Given the description of an element on the screen output the (x, y) to click on. 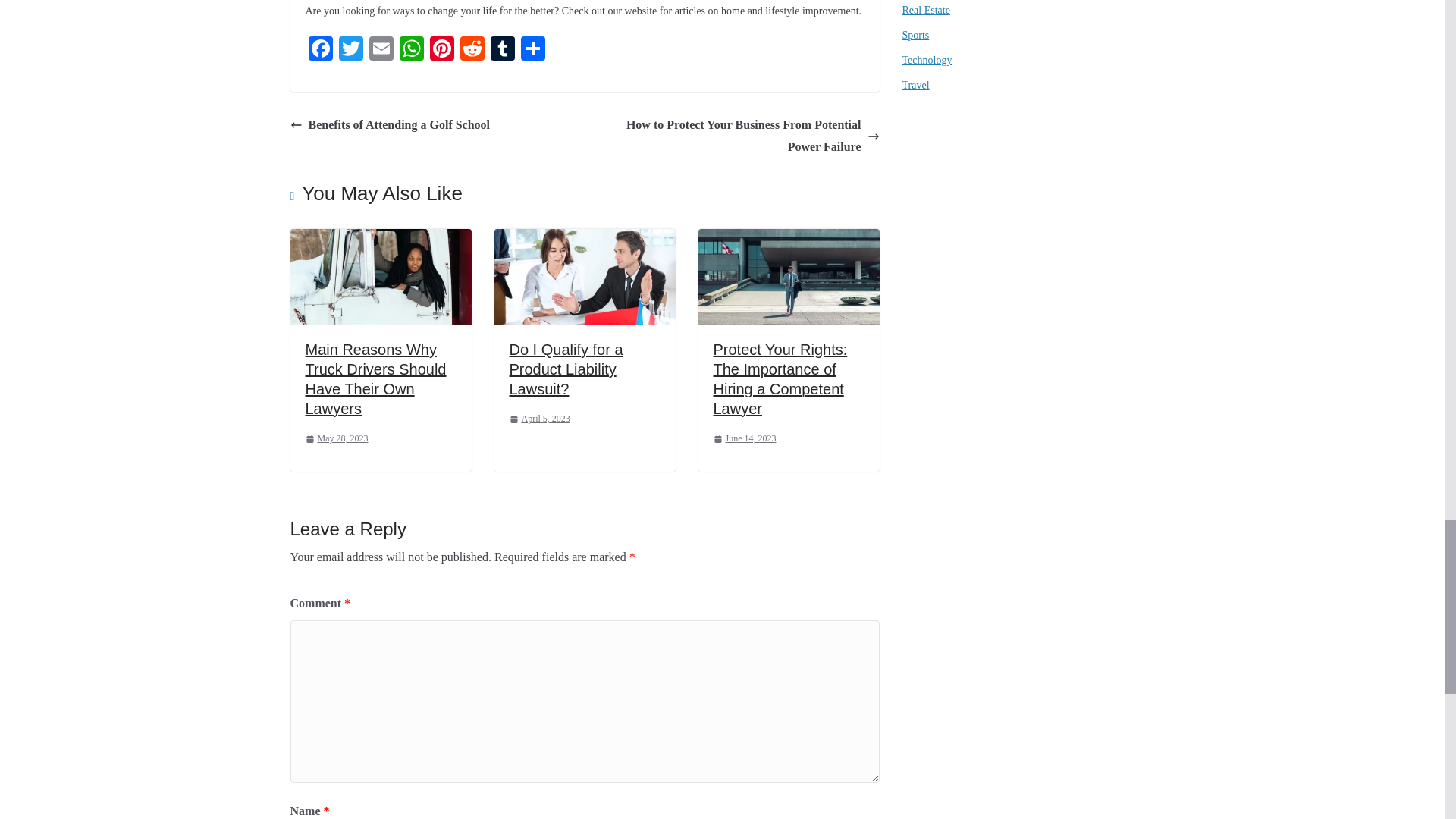
Reddit (471, 50)
WhatsApp (411, 50)
April 5, 2023 (539, 419)
Benefits of Attending a Golf School (389, 125)
Main Reasons Why Truck Drivers Should Have Their Own Lawyers (374, 378)
Do I Qualify for a Product Liability Lawsuit? (566, 369)
Twitter (349, 50)
Email (380, 50)
Truck Drivers (379, 276)
May 28, 2023 (336, 438)
Main Reasons Why Truck Drivers Should Have Their Own Lawyers (374, 378)
Pinterest (441, 50)
June 14, 2023 (744, 438)
Email (380, 50)
